Given the description of an element on the screen output the (x, y) to click on. 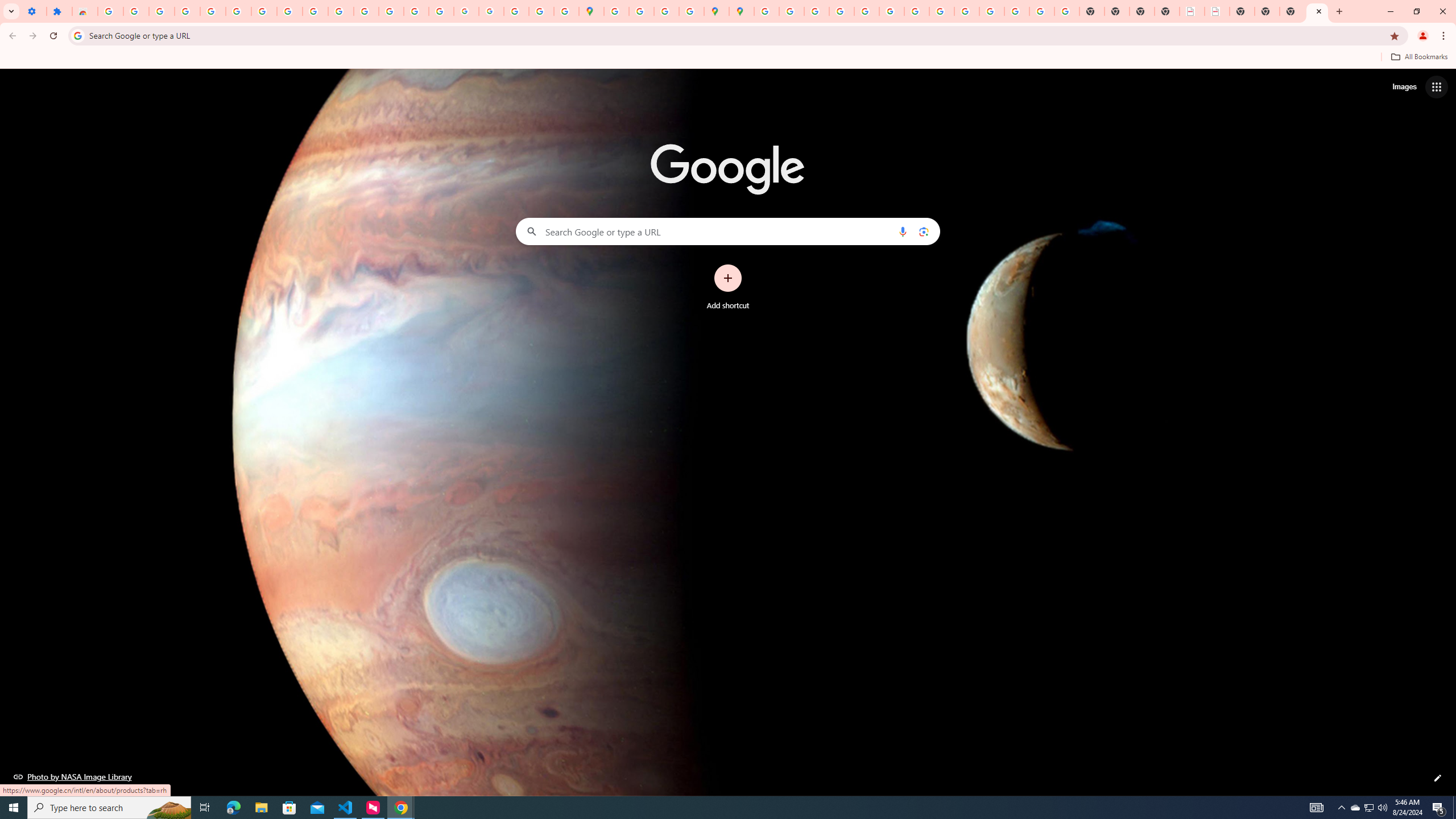
Google Account (289, 11)
YouTube (315, 11)
Photo by NASA Image Library (72, 776)
